Given the description of an element on the screen output the (x, y) to click on. 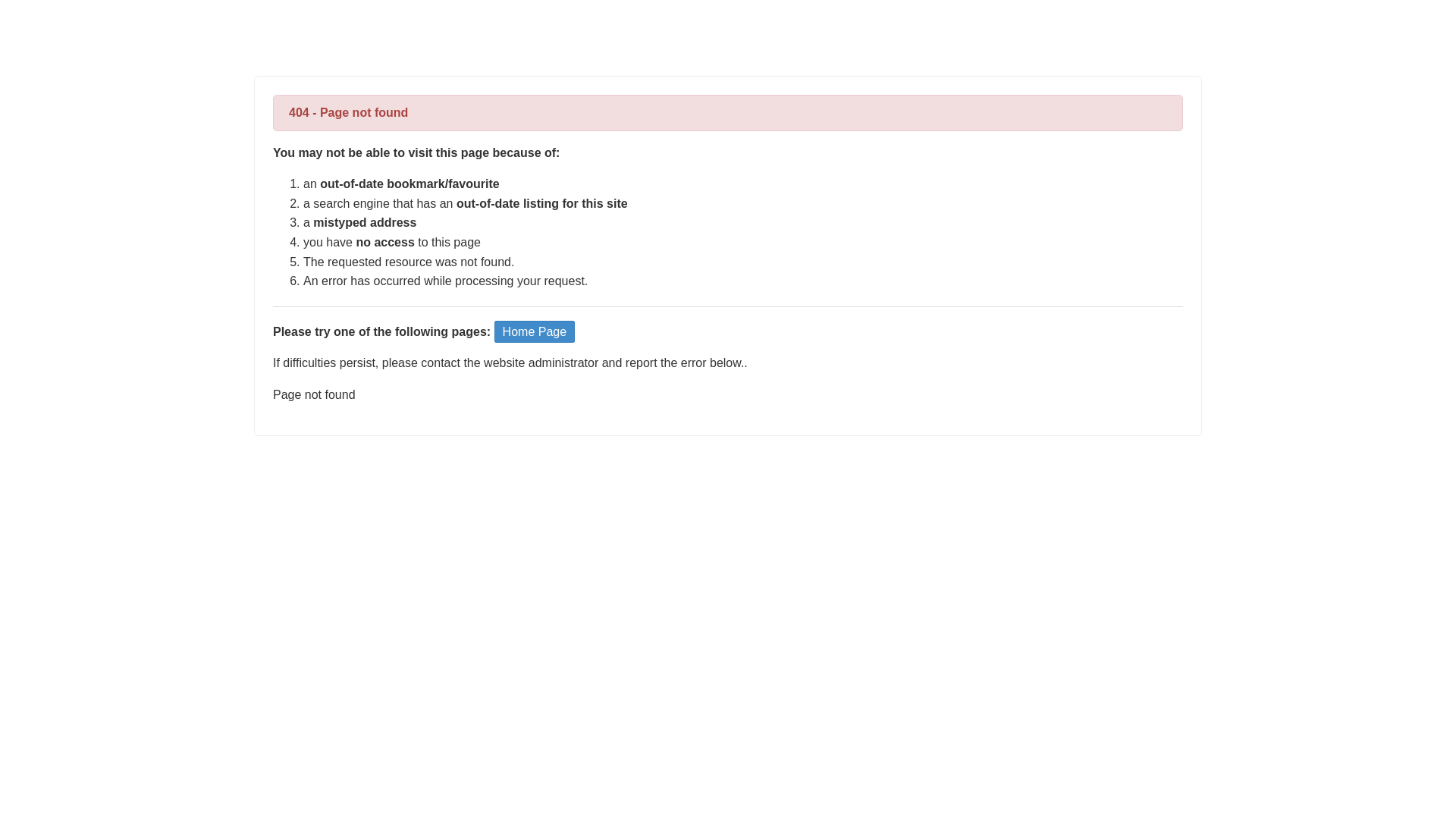
Home Page Element type: text (534, 331)
